Given the description of an element on the screen output the (x, y) to click on. 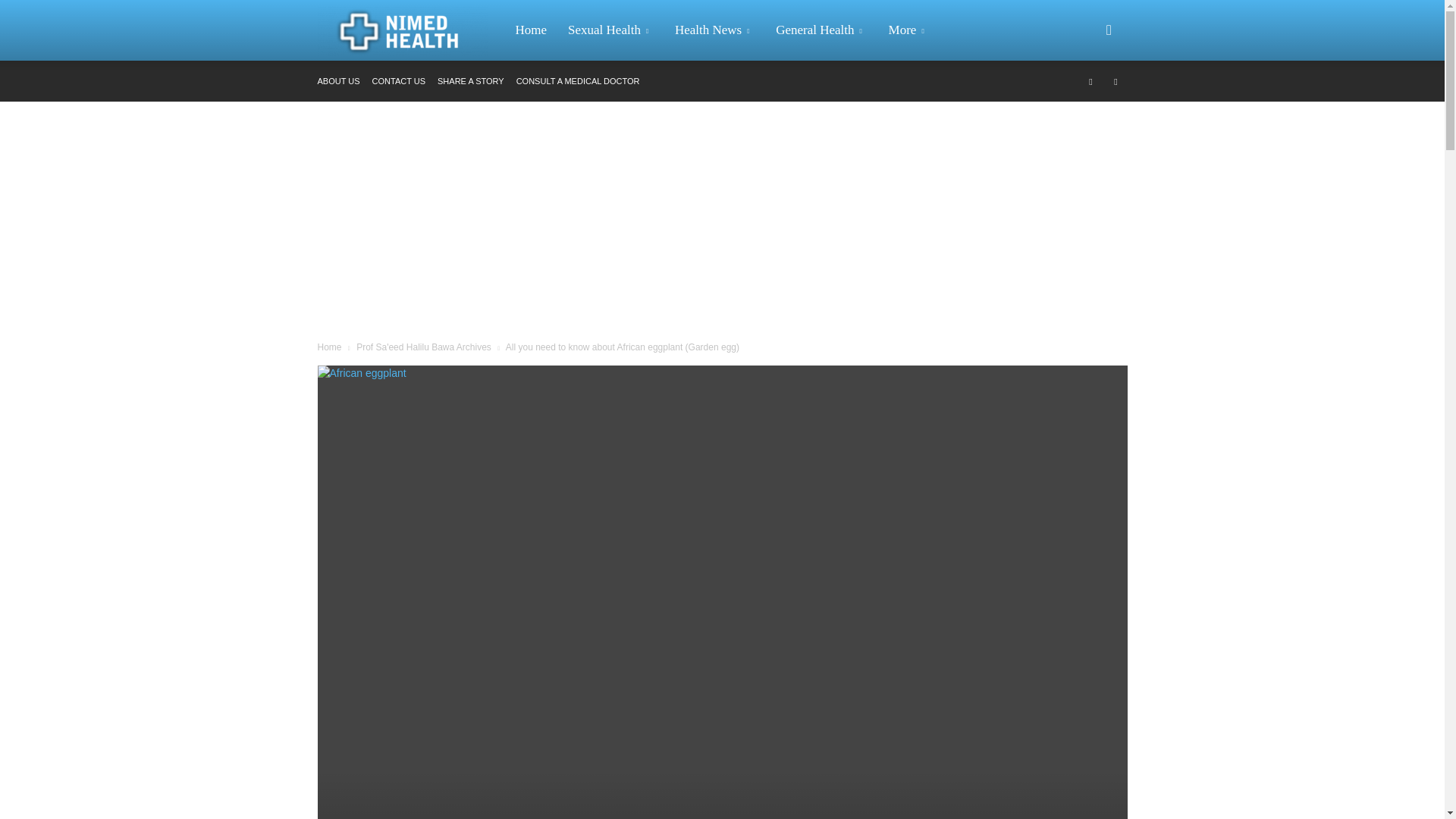
Nigerian Health Blog (410, 30)
Sexual Health (610, 30)
Health News (714, 30)
